Given the description of an element on the screen output the (x, y) to click on. 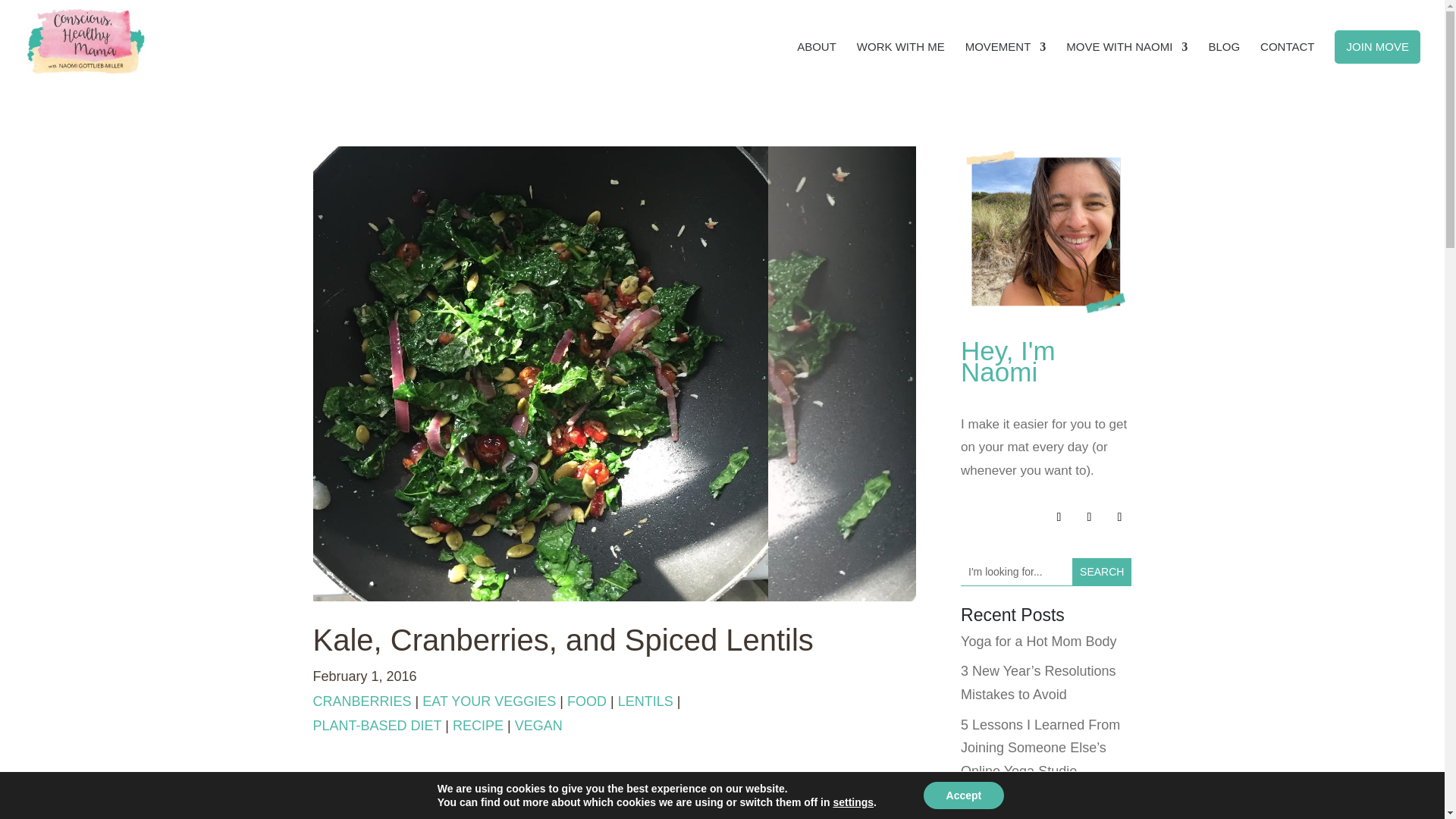
MOVE WITH NAOMI (1126, 61)
MOVEMENT (1005, 61)
VEGAN (538, 725)
PLANT-BASED DIET (377, 725)
Search (1101, 571)
naomi-about-banner-600x600 (1045, 232)
Search (1101, 571)
CRANBERRIES (361, 701)
Follow on Facebook (1088, 517)
WORK WITH ME (900, 61)
LENTILS (644, 701)
CONTACT (1287, 61)
ABOUT (815, 61)
RECIPE (477, 725)
EAT YOUR VEGGIES (489, 701)
